Given the description of an element on the screen output the (x, y) to click on. 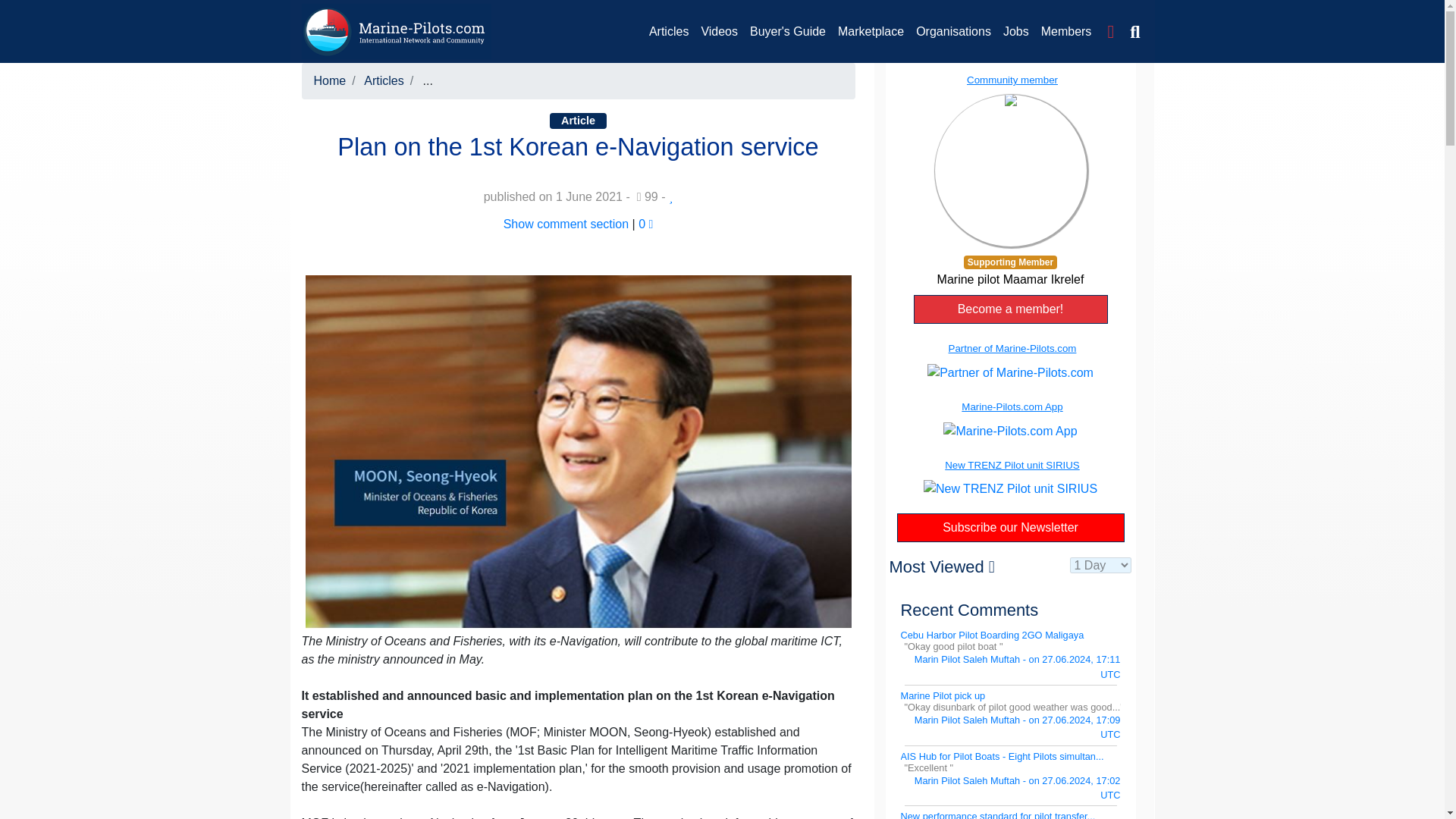
Articles (383, 80)
Jobs (1016, 31)
Organisations (953, 31)
Home (330, 80)
Articles (668, 31)
Members (1066, 31)
Videos (719, 31)
all-time page views (647, 196)
Plan on the 1st Korean e-Navigation service (577, 450)
Show comment section (565, 223)
99 (647, 196)
Buyer's Guide (787, 31)
Marketplace (870, 31)
